Given the description of an element on the screen output the (x, y) to click on. 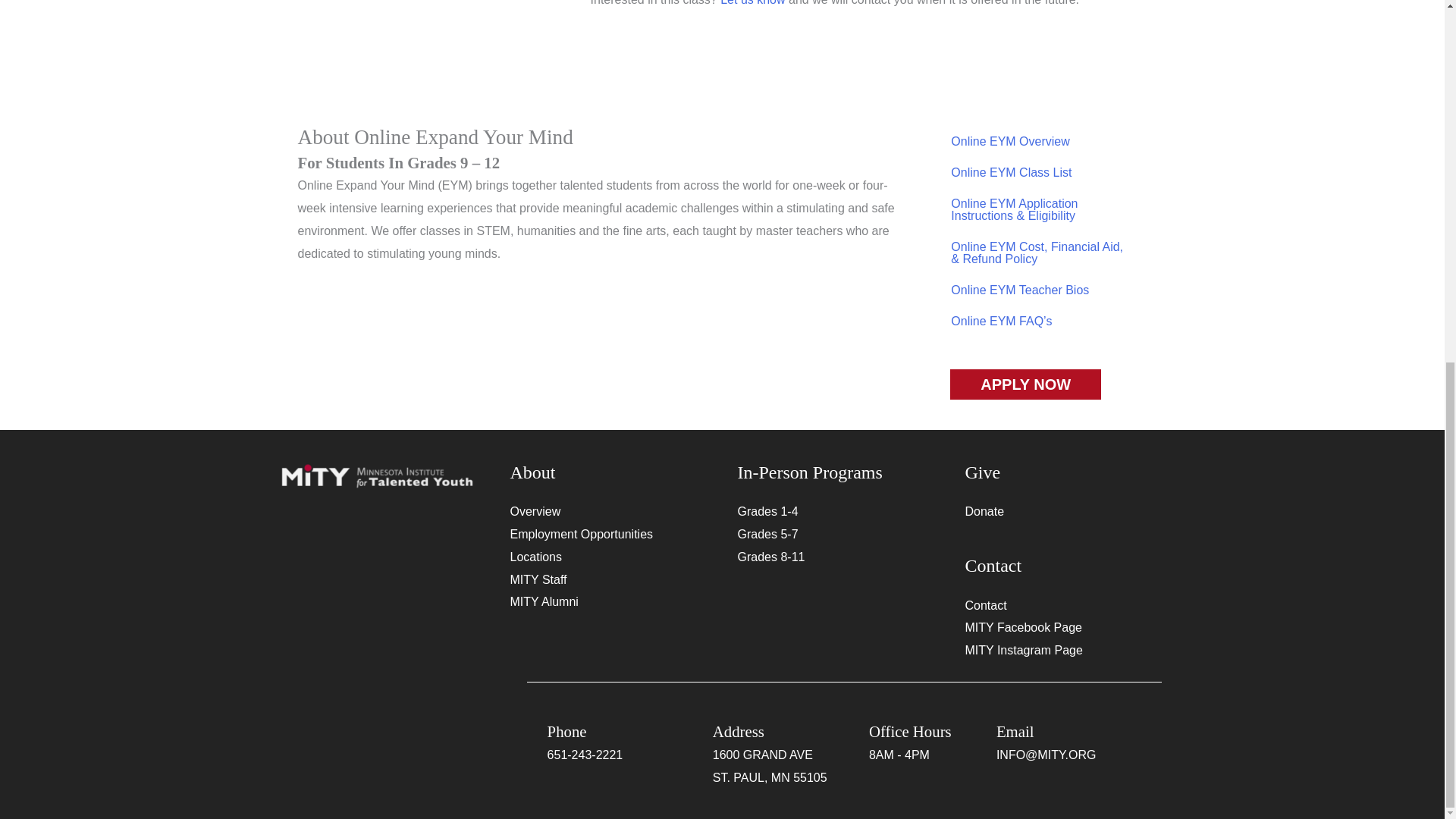
Employment Opportunities  (582, 533)
Locations  (536, 556)
Grades 1-4 (766, 511)
Overview (534, 511)
APPLY NOW (1025, 384)
MITY Staff (537, 579)
Let us know (752, 2)
Online EYM Teacher Bios (1038, 289)
Online EYM Class List (1038, 172)
Grades 5-7 (766, 533)
